Given the description of an element on the screen output the (x, y) to click on. 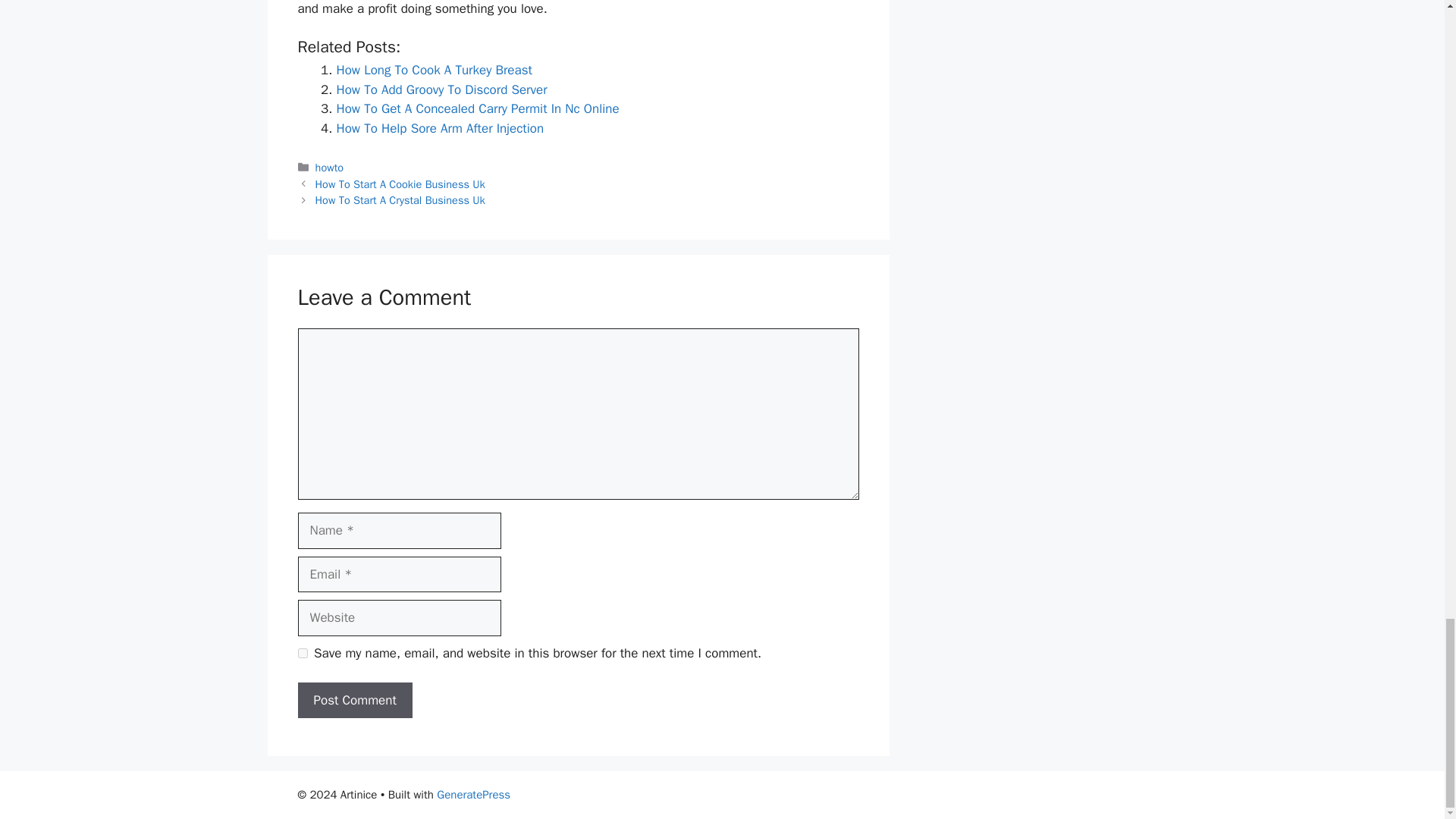
How To Add Groovy To Discord Server (441, 89)
How To Start A Crystal Business Uk (399, 200)
howto (329, 167)
yes (302, 653)
Post Comment (354, 700)
Post Comment (354, 700)
How To Get A Concealed Carry Permit In Nc Online (478, 108)
How To Help Sore Arm After Injection (440, 128)
How To Start A Cookie Business Uk (399, 183)
How Long To Cook A Turkey Breast (434, 69)
